Given the description of an element on the screen output the (x, y) to click on. 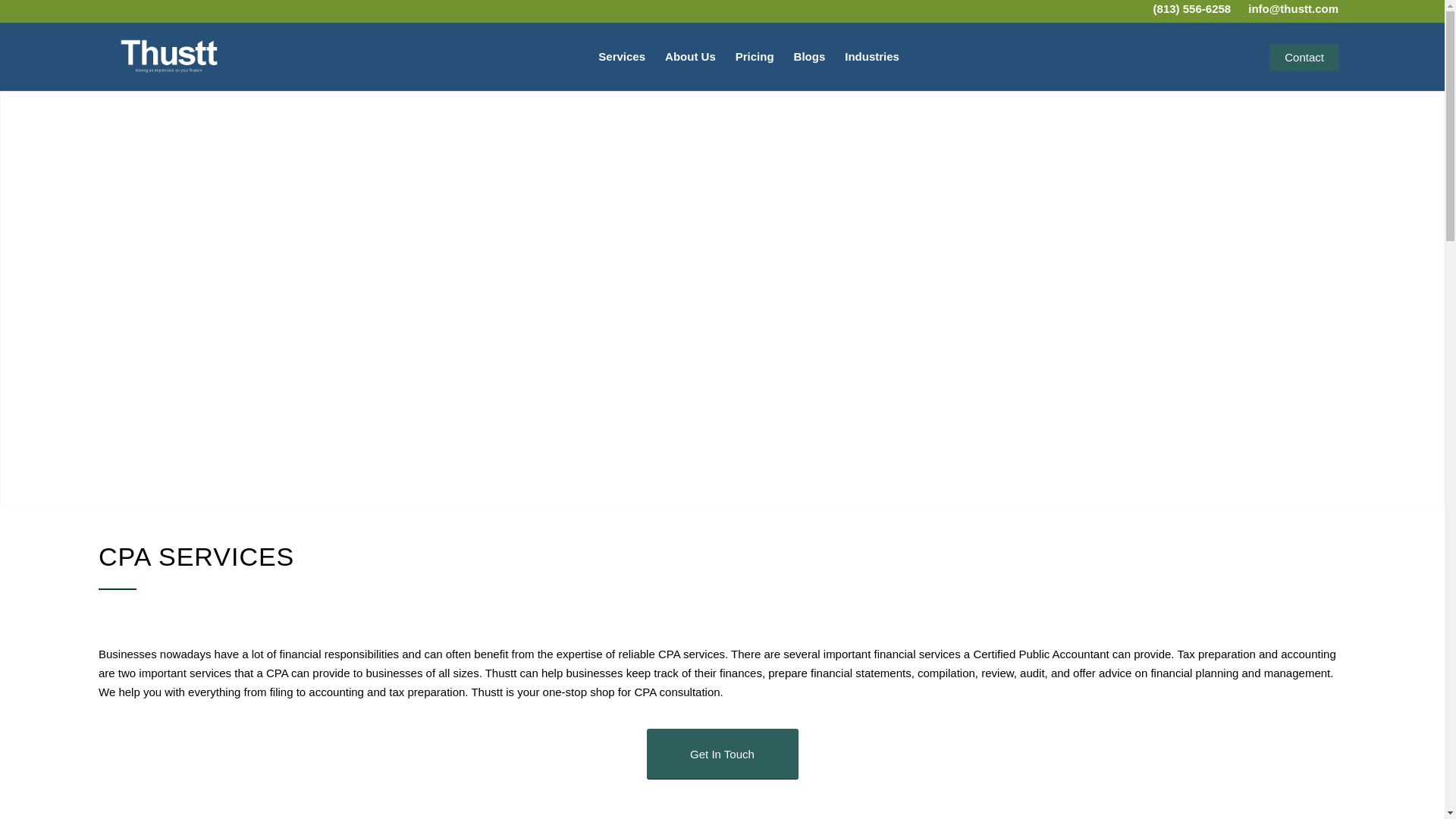
About Us (690, 56)
rough-logo (166, 58)
Services (621, 56)
Contact (1304, 56)
Get In Touch (721, 753)
Industries (871, 56)
